Given the description of an element on the screen output the (x, y) to click on. 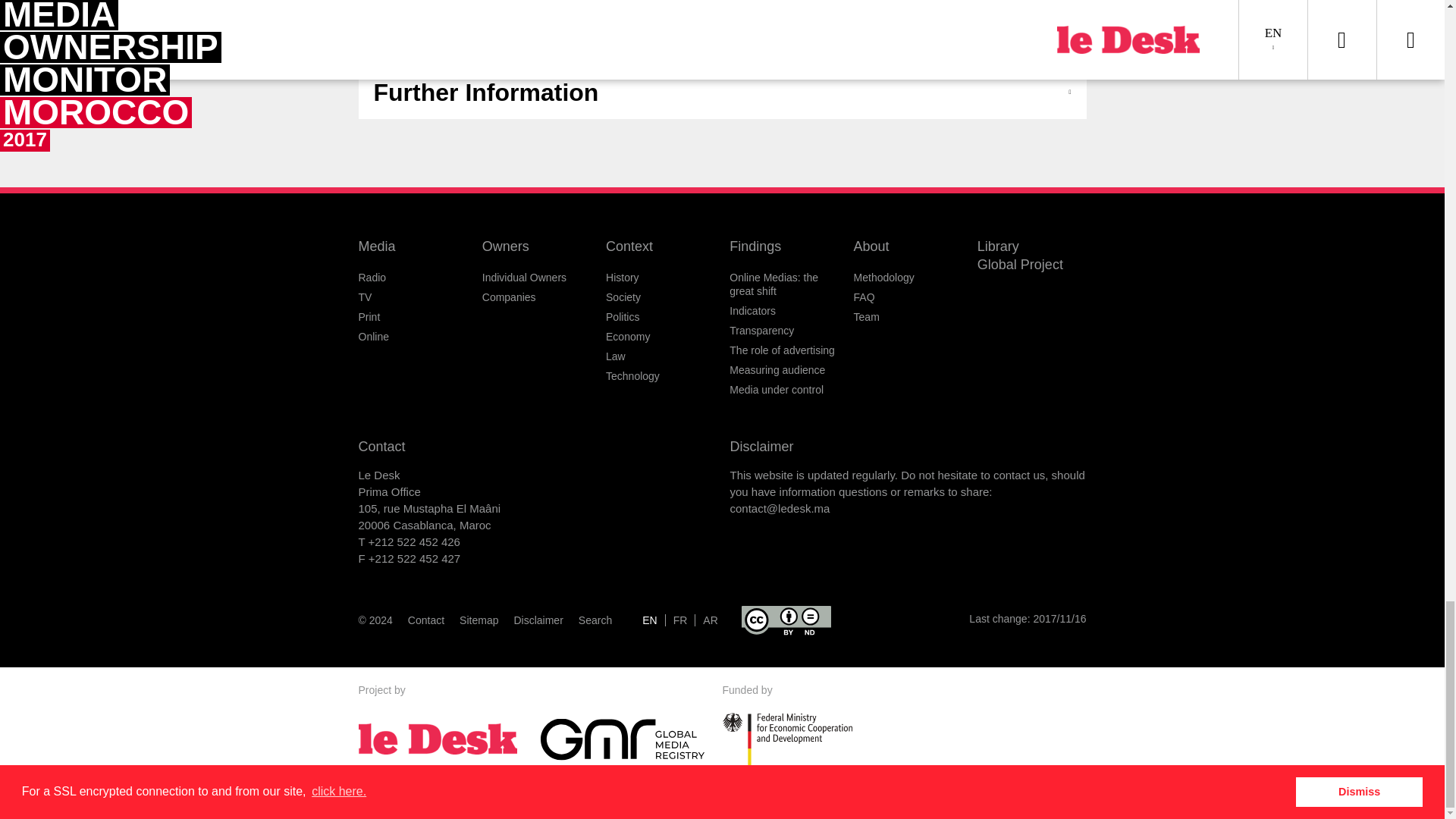
Findings (754, 246)
Transparency (761, 330)
Media under control (776, 389)
Context (628, 246)
Indicators (752, 310)
Politics (622, 316)
The role of advertising (781, 349)
TV (364, 297)
Online (373, 336)
Companies (508, 297)
Online Medias: the great shift (773, 284)
Media (376, 246)
Technology (632, 376)
Radio (371, 277)
Law (615, 356)
